Given the description of an element on the screen output the (x, y) to click on. 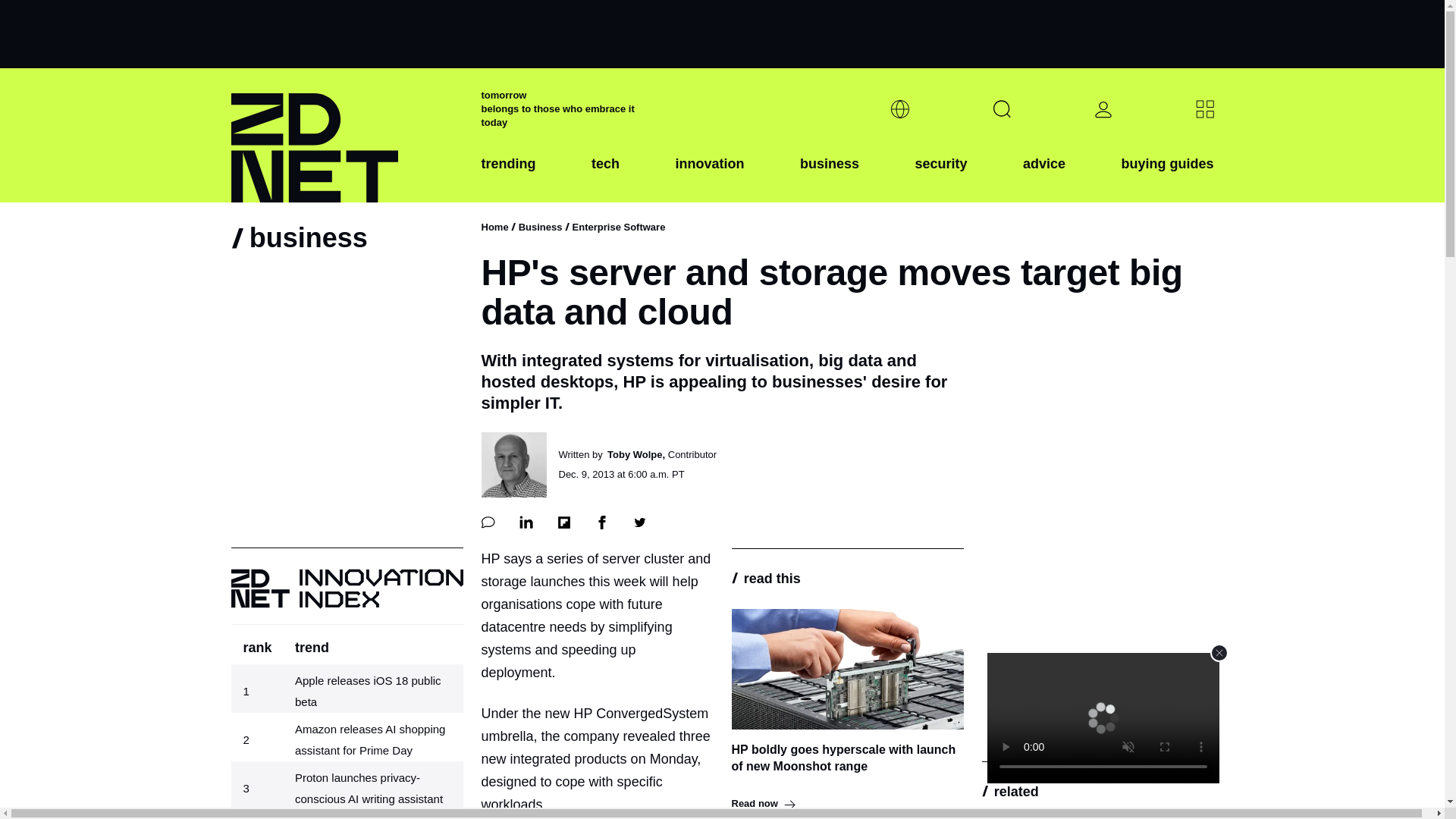
3rd party ad content (1097, 642)
trending (507, 175)
ZDNET (346, 134)
3rd party ad content (721, 33)
